Given the description of an element on the screen output the (x, y) to click on. 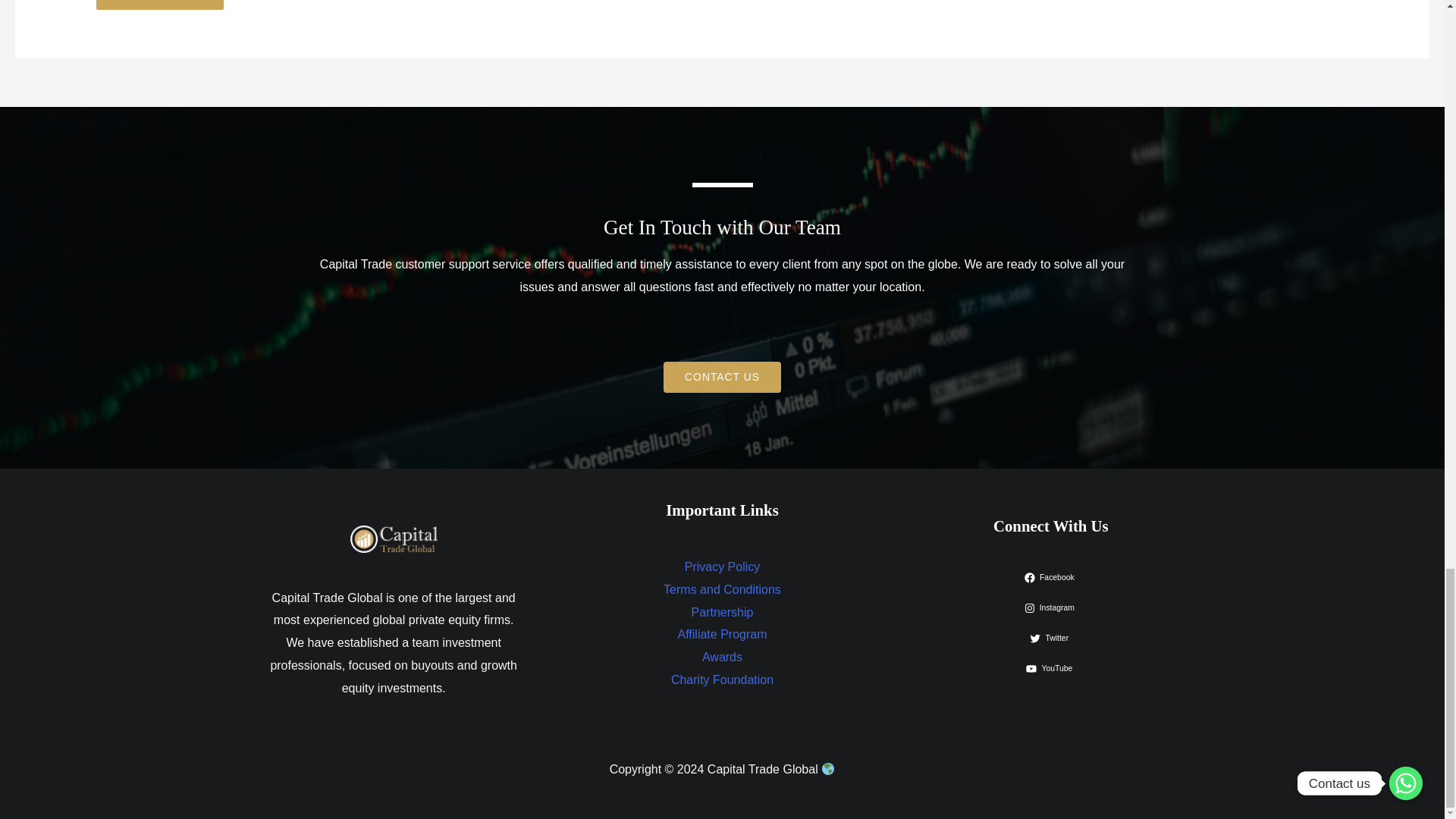
Partnership (722, 612)
Facebook (1050, 577)
Charity Foundation (722, 679)
Terms and Conditions (721, 589)
Awards (721, 656)
CONTACT US (721, 377)
Instagram (1050, 607)
Affiliate Program (722, 634)
Privacy Policy (722, 566)
Twitter (1050, 638)
